Given the description of an element on the screen output the (x, y) to click on. 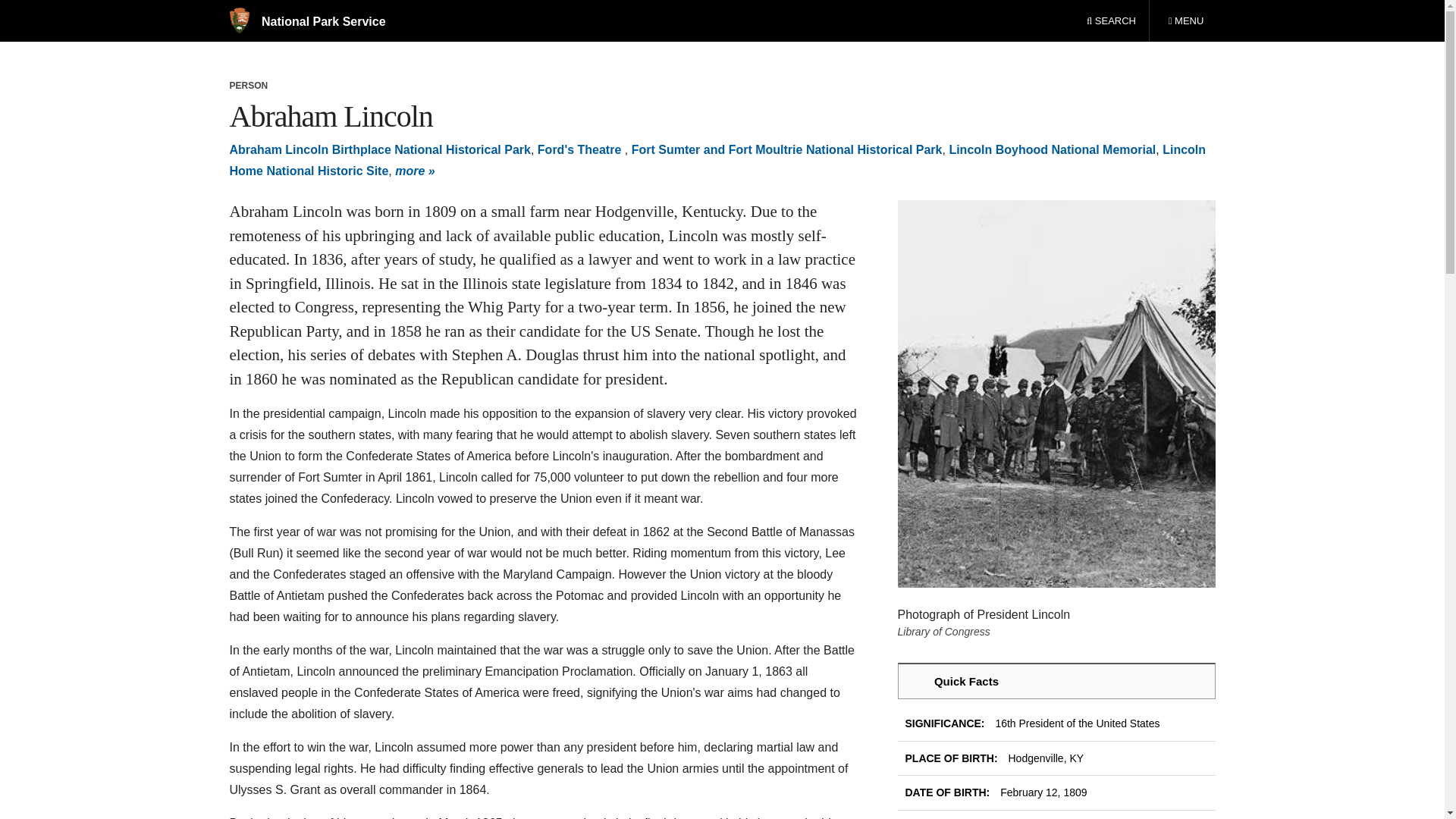
SEARCH (1111, 20)
Abraham Lincoln Birthplace National Historical Park (378, 149)
Ford's Theatre (580, 149)
Fort Sumter and Fort Moultrie National Historical Park (786, 149)
National Park Service (307, 20)
Lincoln Boyhood National Memorial (1185, 20)
